Given the description of an element on the screen output the (x, y) to click on. 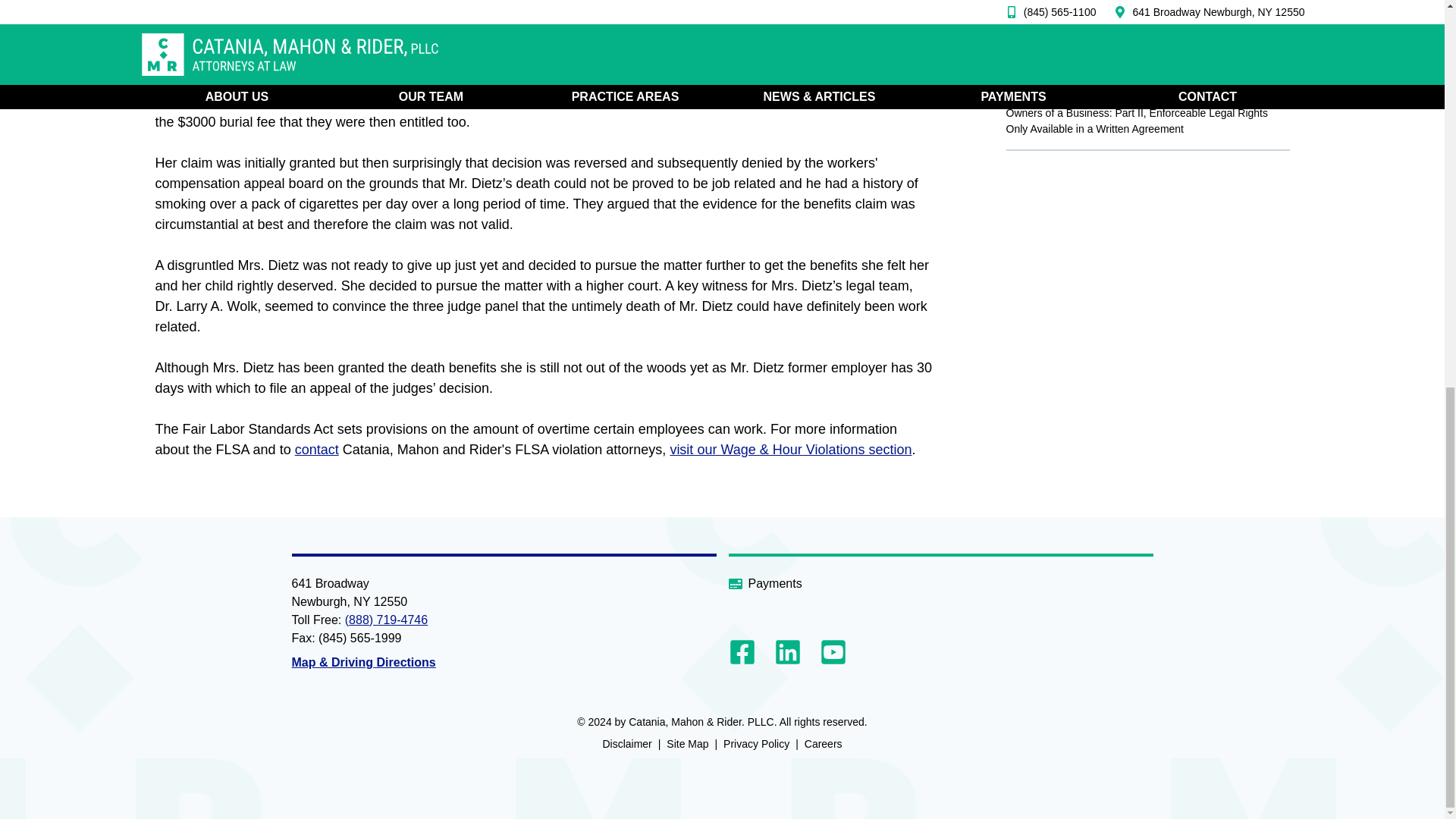
Link to Site Map Page (686, 743)
Careers (824, 743)
Privacy Policy (756, 743)
Link to CMR Payments Page (940, 583)
Link to Privacy Policy Page (756, 743)
Disclaimer (626, 743)
Site Map (686, 743)
contact (317, 448)
Link to Page with Driving Directions (363, 661)
Payments (940, 583)
Link to Careers Page (824, 743)
Link to Disclaimer Page (626, 743)
CMR Toll-Free Phone Number (386, 618)
